Given the description of an element on the screen output the (x, y) to click on. 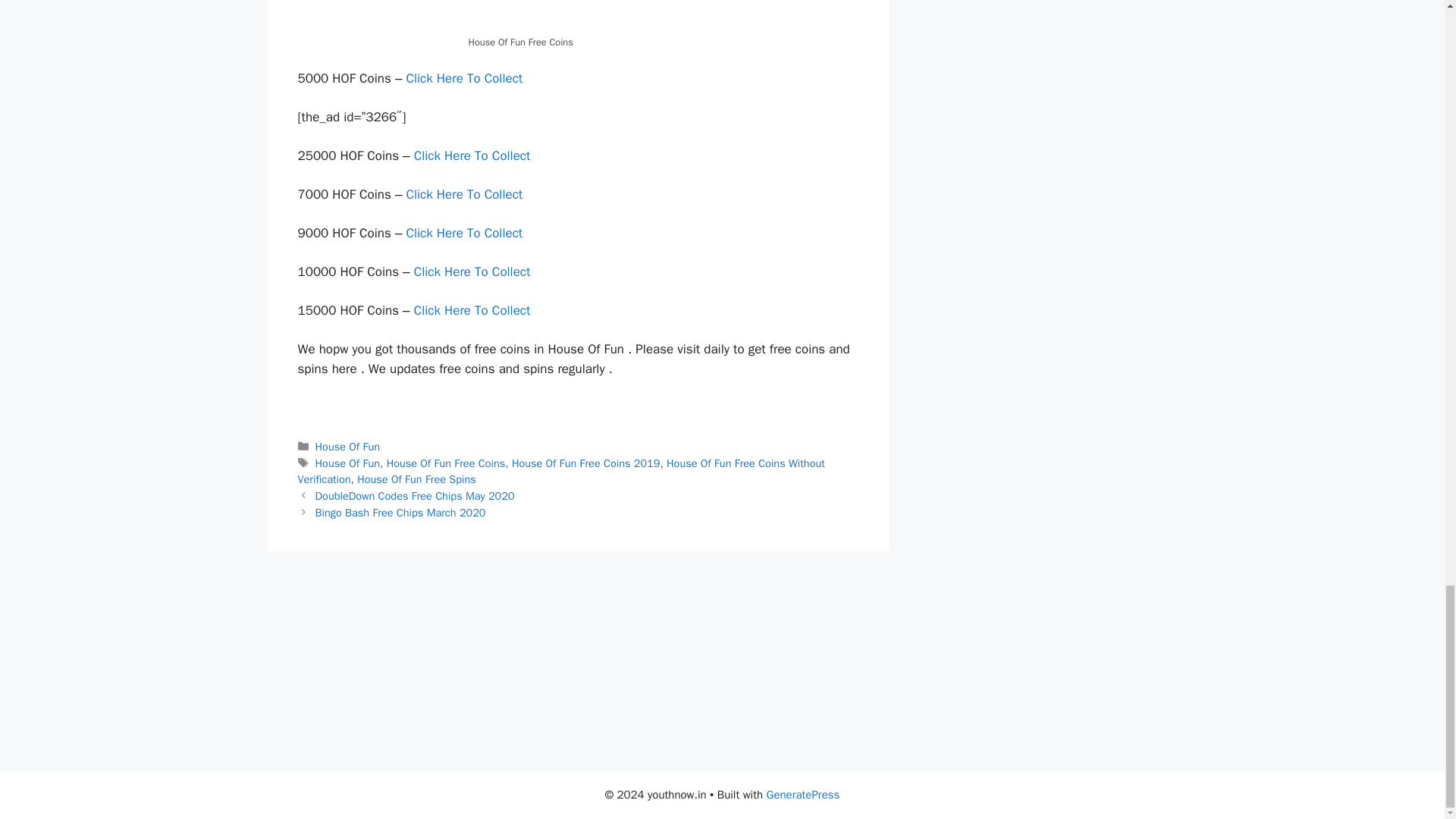
DoubleDown Codes Free Chips May 2020 (415, 495)
Bingo Bash Free Chips March 2020 (400, 512)
House Of Fun (347, 463)
House Of Fun (347, 446)
GeneratePress (803, 794)
House Of Fun Free Spins (416, 479)
Click Here To Collect  (473, 155)
House Of Fun Free Coins (446, 463)
Click Here To Collect  (465, 232)
House Of Fun Free Coins Without Verification (560, 471)
Click Here To Collect  (473, 310)
House Of Fun Free Coins 2019 (586, 463)
Click Here To Collect  (465, 194)
Click Here To Collect  (465, 78)
Click Here To Collect  (473, 271)
